Given the description of an element on the screen output the (x, y) to click on. 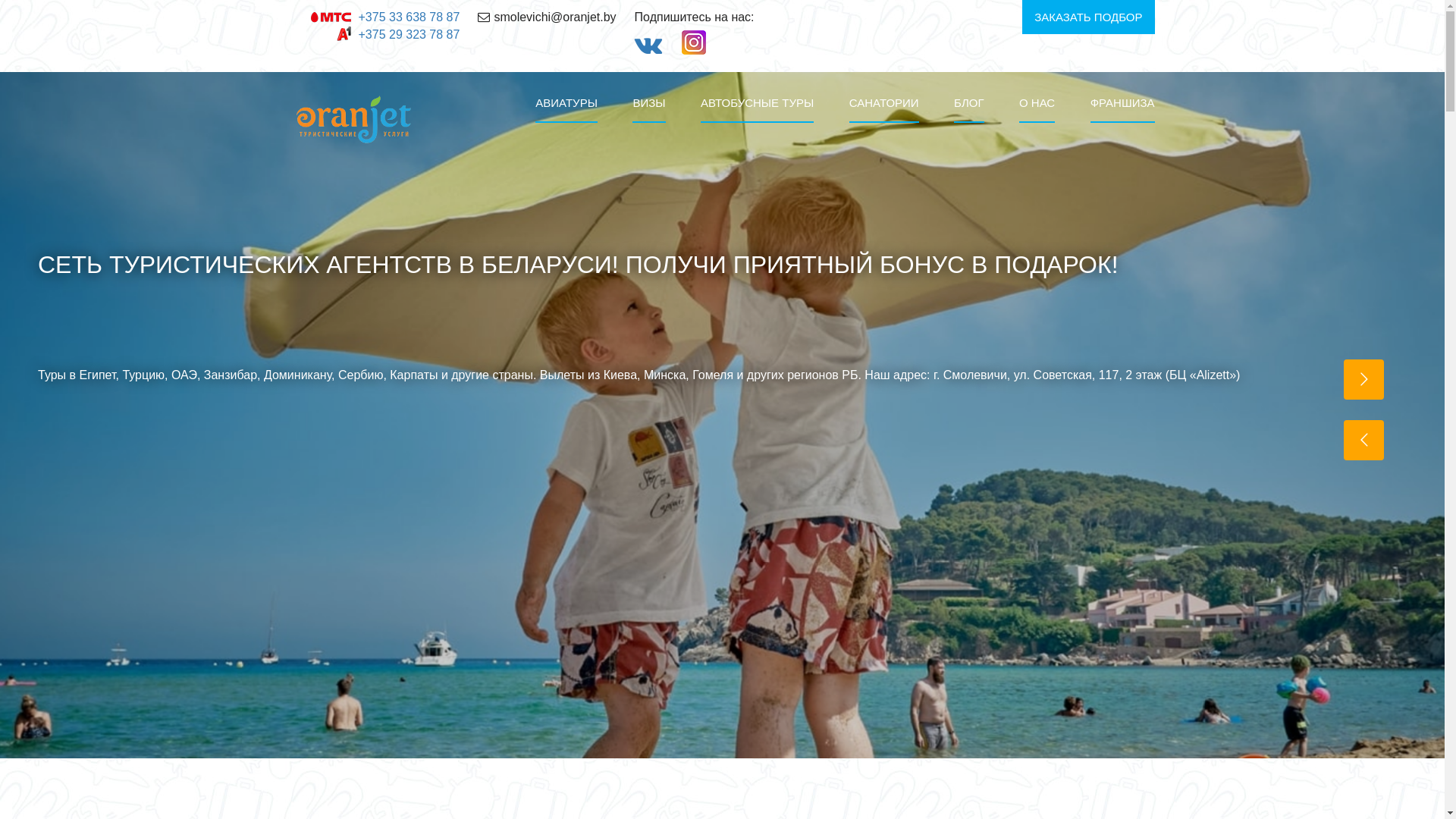
+375 29 323 78 87 Element type: text (408, 34)
+375 33 638 78 87 Element type: text (408, 16)
